Given the description of an element on the screen output the (x, y) to click on. 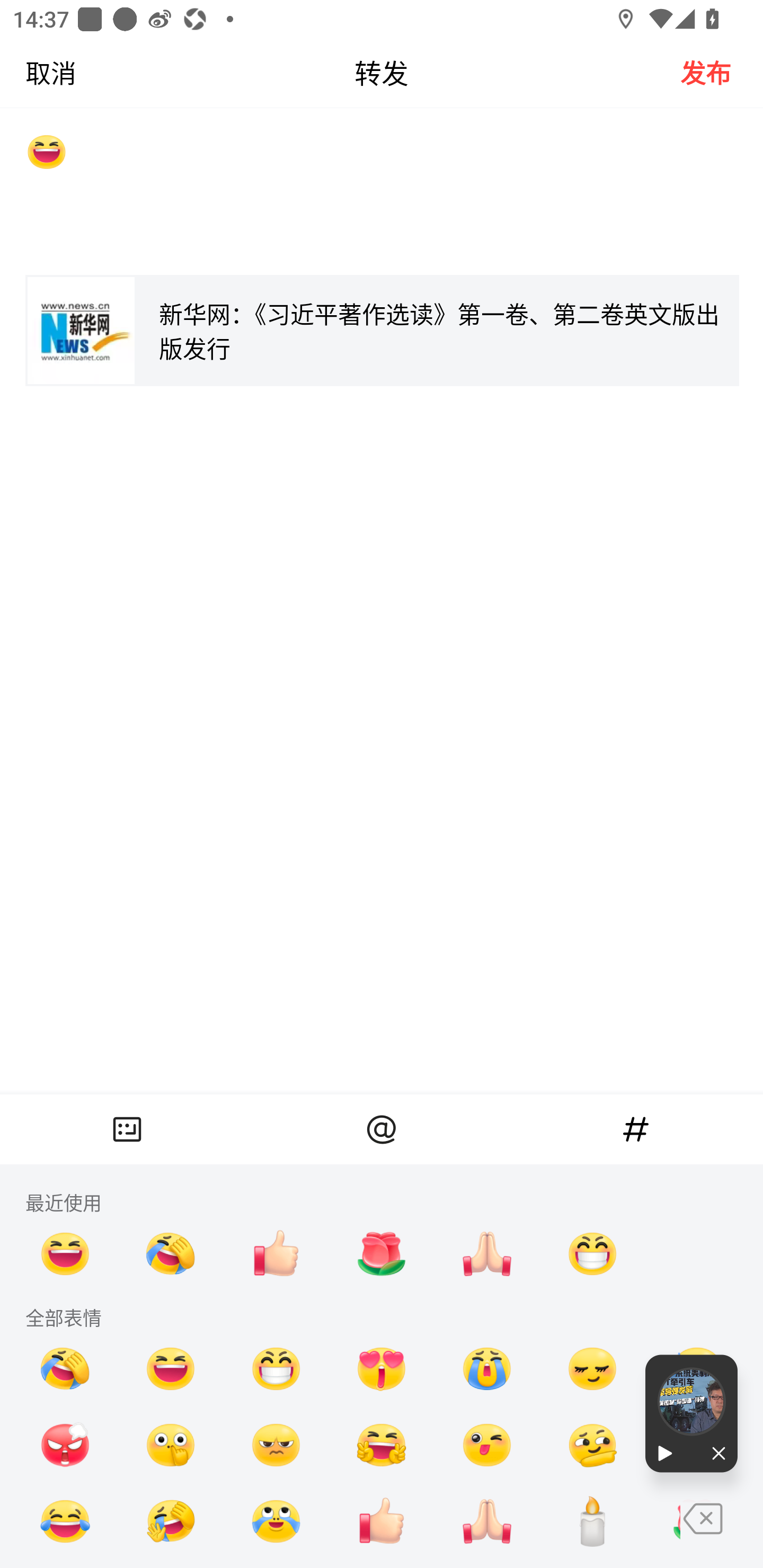
取消 (38, 71)
发布 (721, 71)
[大笑] (382, 194)
表情 (127, 1129)
at (381, 1129)
话题 (635, 1129)
[大笑] (65, 1253)
[捂脸] (170, 1253)
[赞] (275, 1253)
[玫瑰] (381, 1253)
[祈祷] (487, 1253)
[呲牙] (592, 1253)
[捂脸] (65, 1368)
[大笑] (170, 1368)
[呲牙] (275, 1368)
[爱慕] (381, 1368)
[流泪] (487, 1368)
[害羞] (592, 1368)
当前进度 0% 播放 关闭 (691, 1413)
[发怒] (65, 1444)
[抠鼻] (170, 1444)
[酷拽] (275, 1444)
[耶] (381, 1444)
[可爱] (487, 1444)
[机智] (592, 1444)
播放 (668, 1454)
关闭 (714, 1454)
[笑哭] (65, 1521)
[我想静静] (170, 1521)
[泪奔] (275, 1521)
[赞] (381, 1521)
[祈祷] (487, 1521)
[蜡烛] (592, 1521)
删除 (721, 1535)
